Given the description of an element on the screen output the (x, y) to click on. 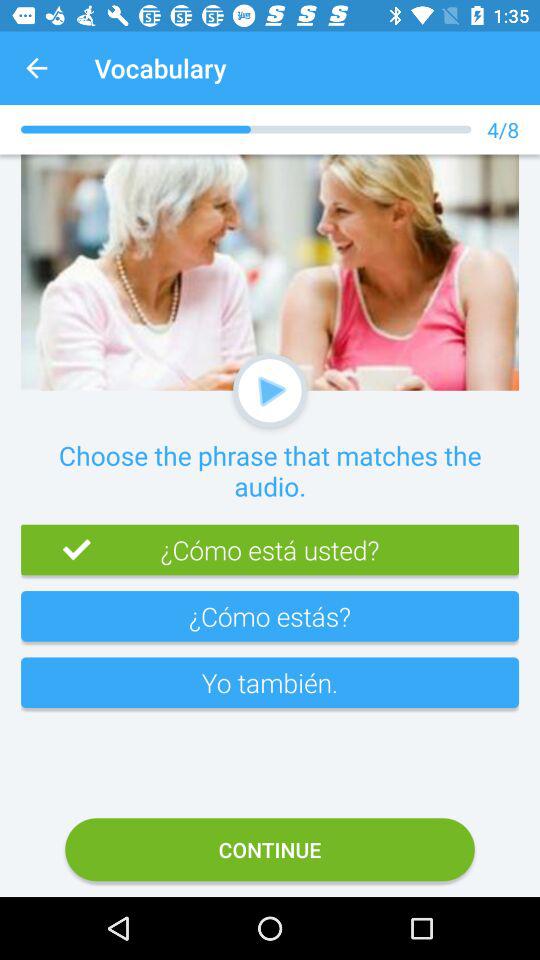
jump until continue (269, 849)
